Given the description of an element on the screen output the (x, y) to click on. 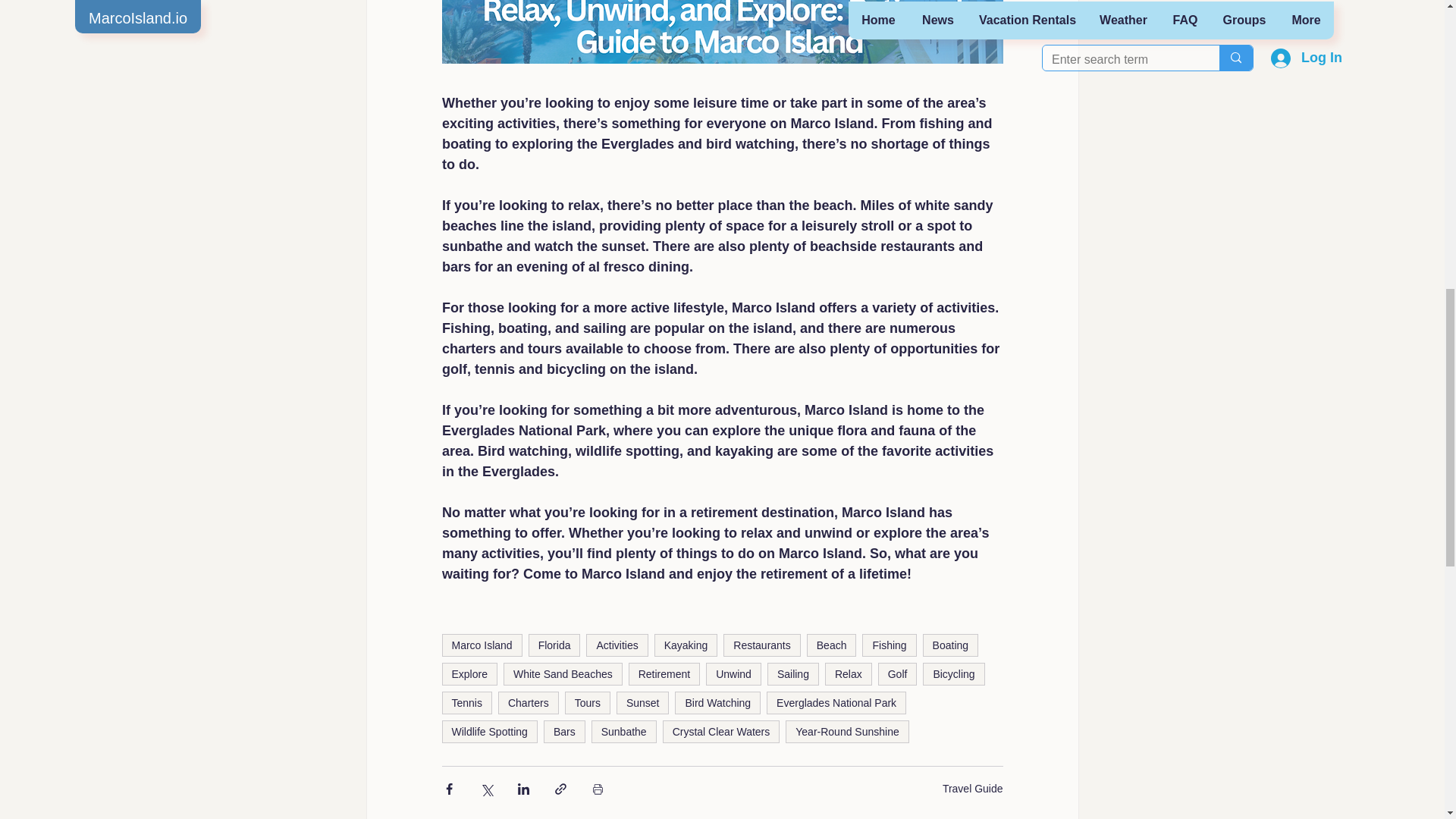
Marco Island (481, 644)
Activities (616, 644)
Florida (554, 644)
Sailing (792, 673)
Restaurants (761, 644)
White Sand Beaches (563, 673)
Fishing (888, 644)
Unwind (733, 673)
Explore (468, 673)
Relax (848, 673)
Boating (950, 644)
Kayaking (685, 644)
Beach (831, 644)
Retirement (664, 673)
